Given the description of an element on the screen output the (x, y) to click on. 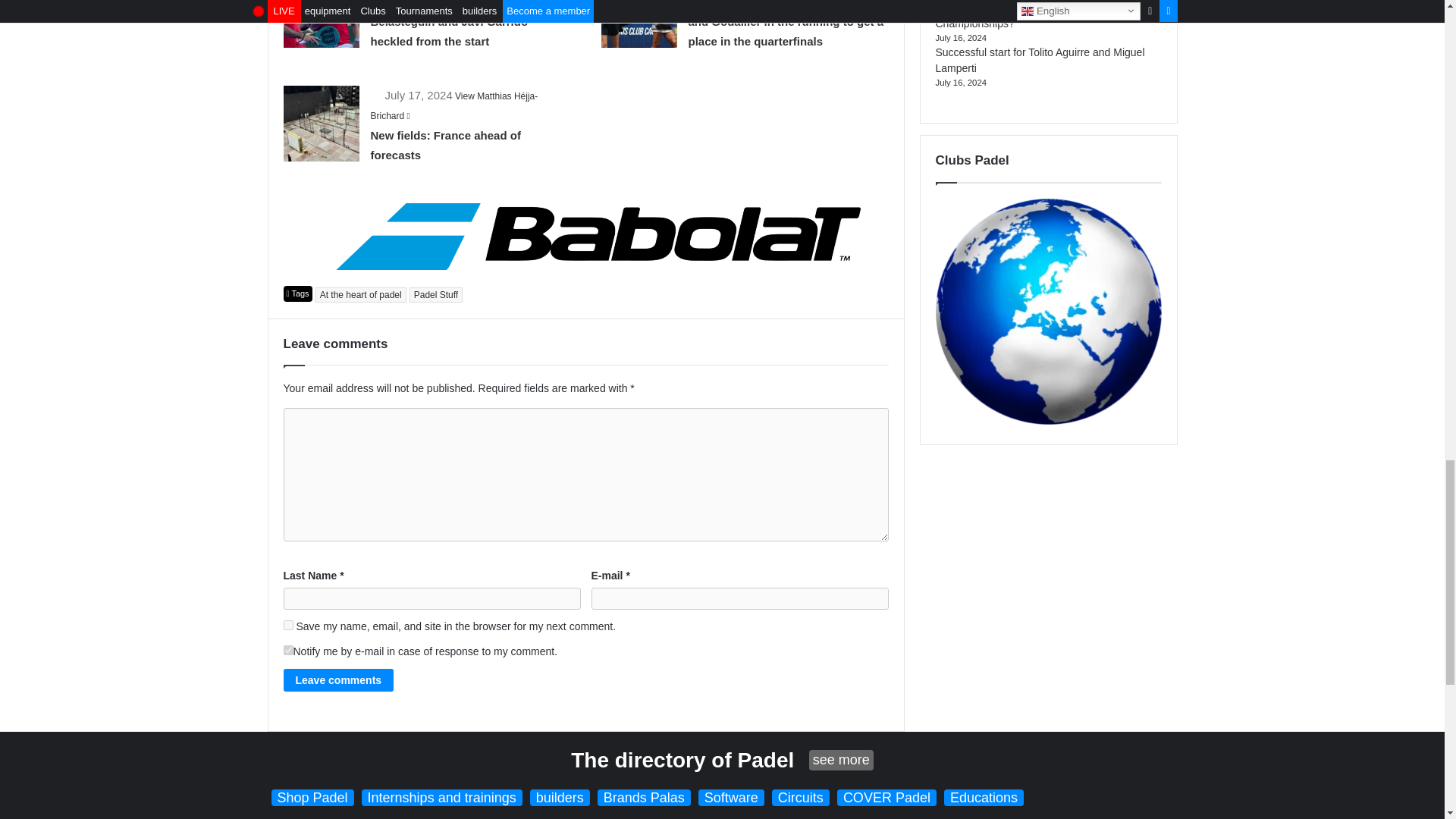
on (288, 650)
Leave comments (338, 680)
yes (288, 624)
